Given the description of an element on the screen output the (x, y) to click on. 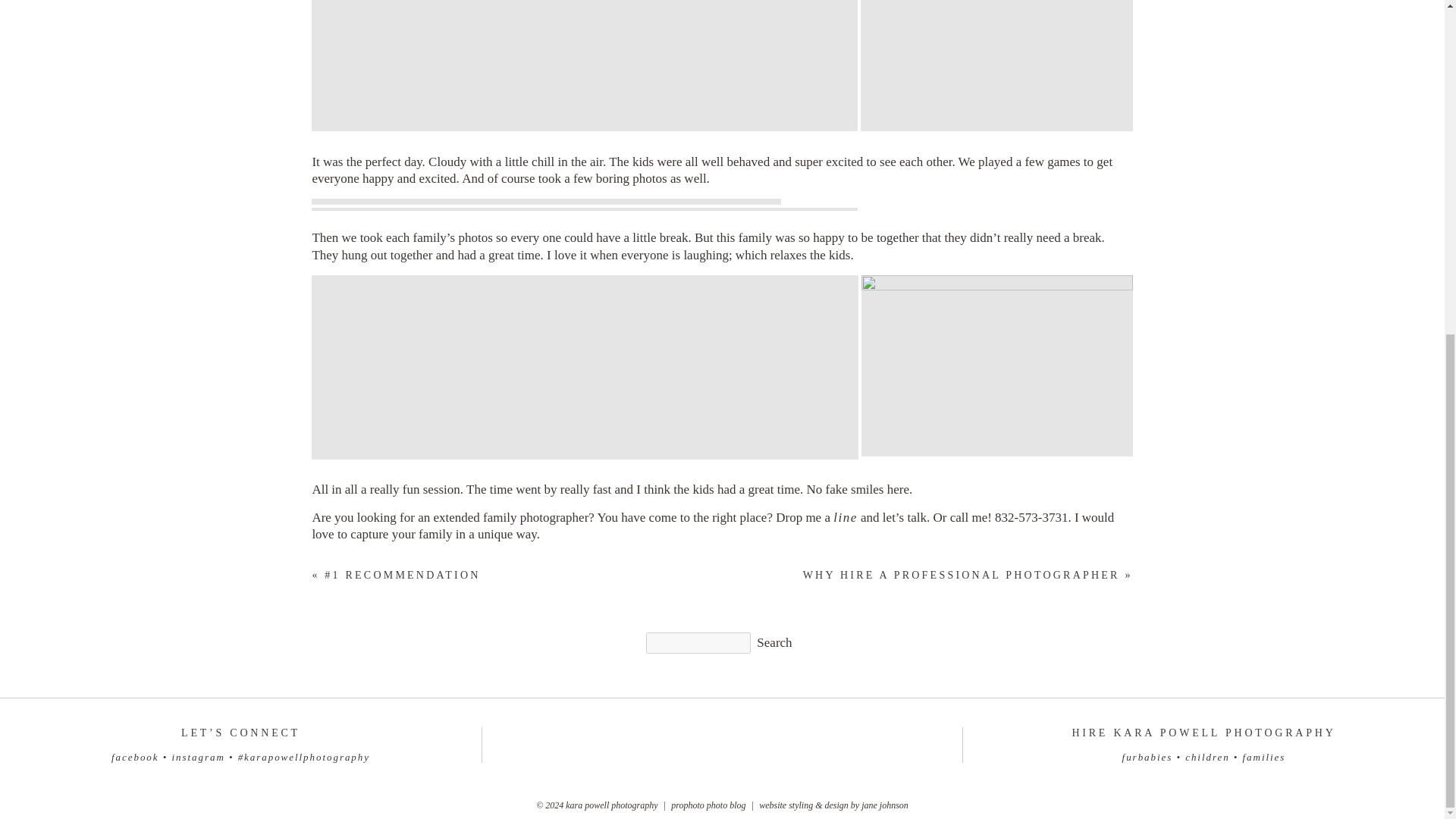
ProPhoto Website (708, 805)
Search (774, 642)
WHY HIRE A PROFESSIONAL PHOTOGRAPHER (961, 574)
Search (774, 642)
Search (774, 642)
line (844, 517)
